Given the description of an element on the screen output the (x, y) to click on. 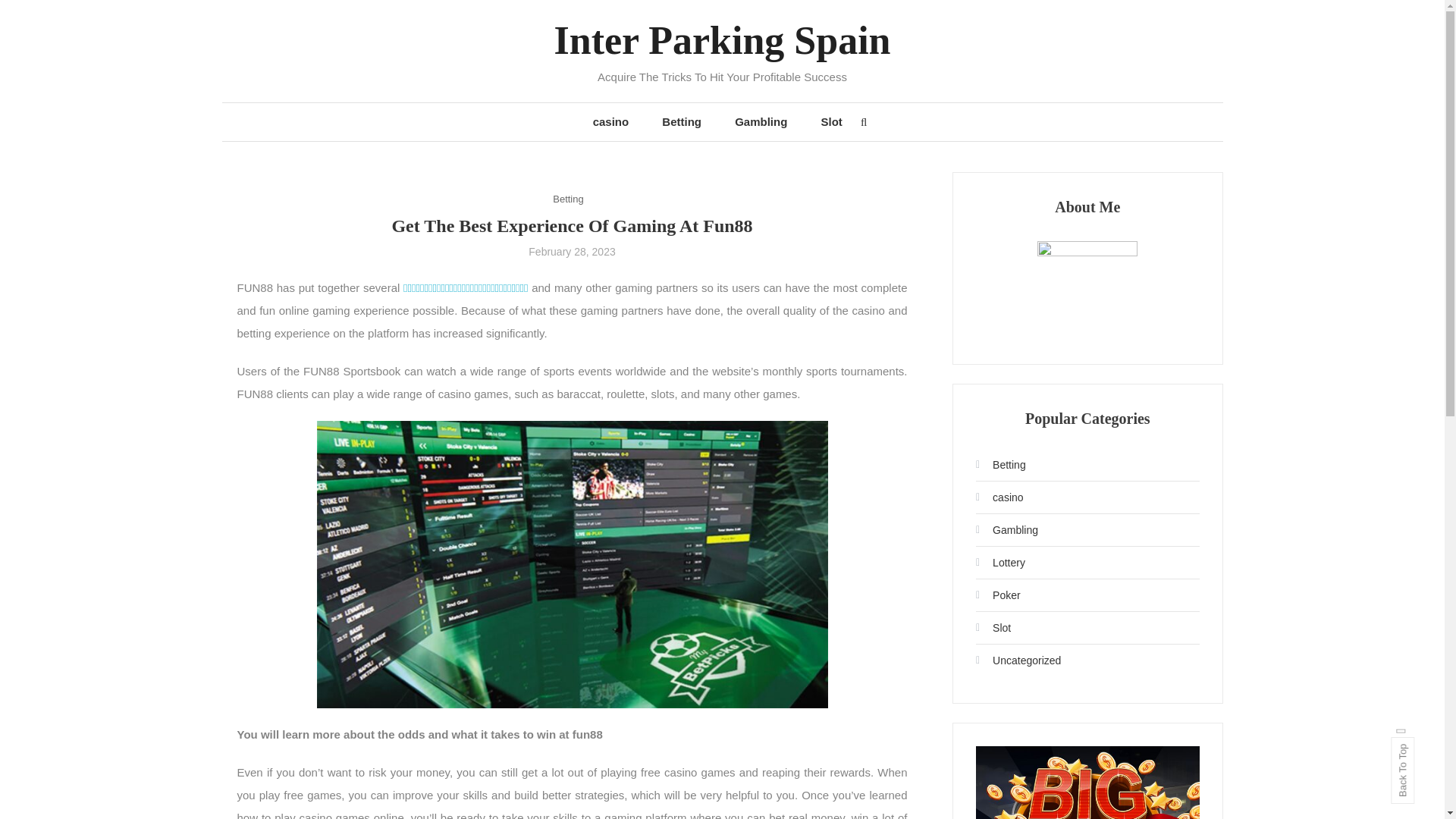
Slot (831, 121)
Gambling (760, 121)
casino (999, 497)
Lottery (1000, 562)
casino (611, 121)
Poker (997, 595)
Slot (992, 627)
Uncategorized (1018, 660)
Inter Parking Spain (721, 40)
Search (768, 432)
February 28, 2023 (571, 251)
Betting (681, 121)
Betting (568, 199)
Gambling (1006, 529)
Betting (1000, 464)
